Given the description of an element on the screen output the (x, y) to click on. 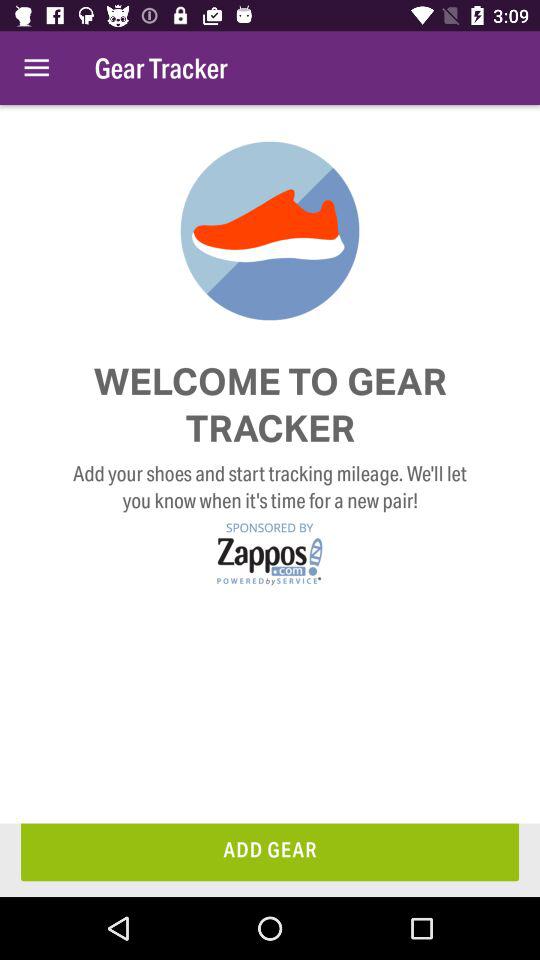
flip until the add gear icon (270, 852)
